Given the description of an element on the screen output the (x, y) to click on. 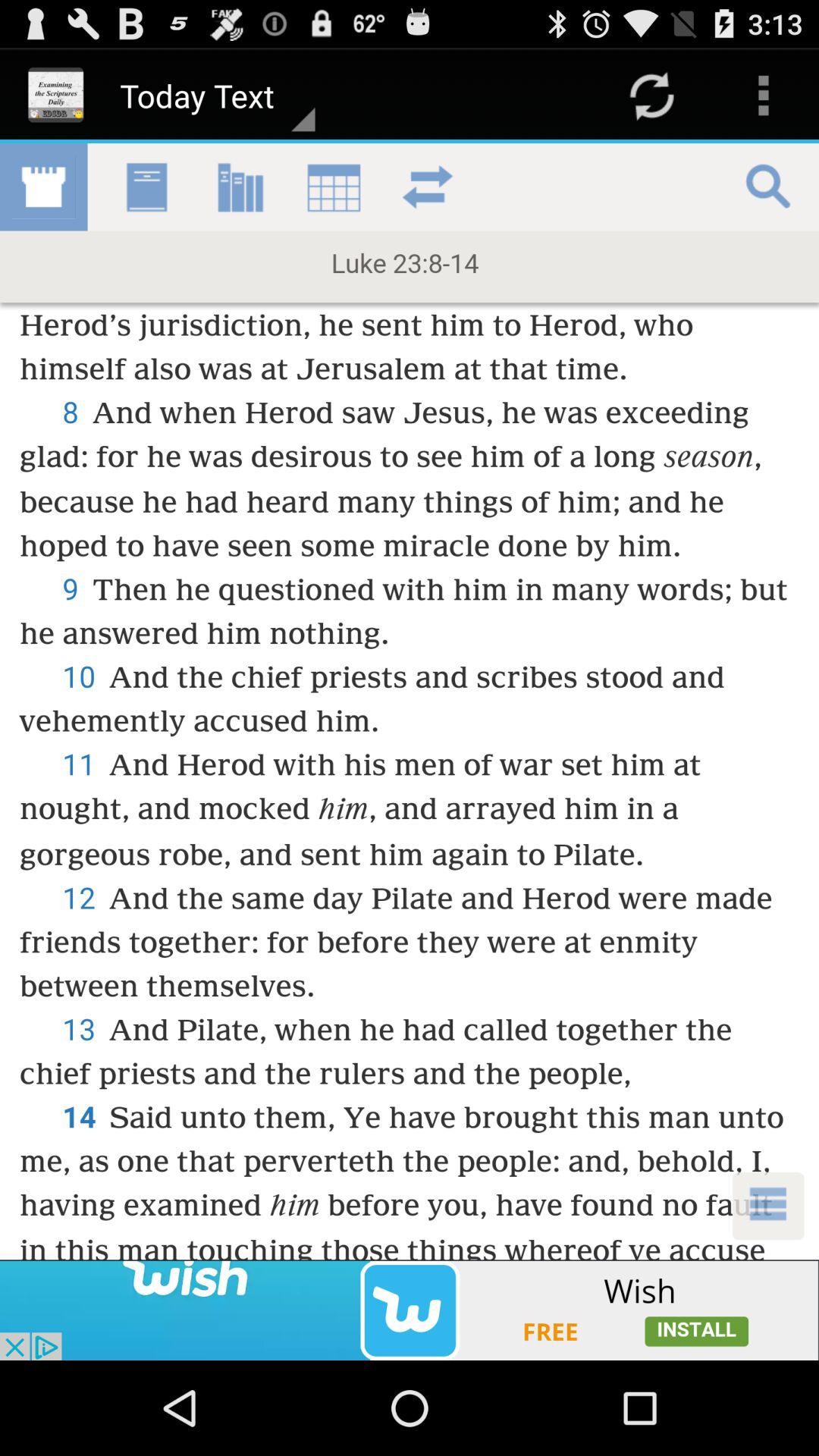
text screen (409, 701)
